Given the description of an element on the screen output the (x, y) to click on. 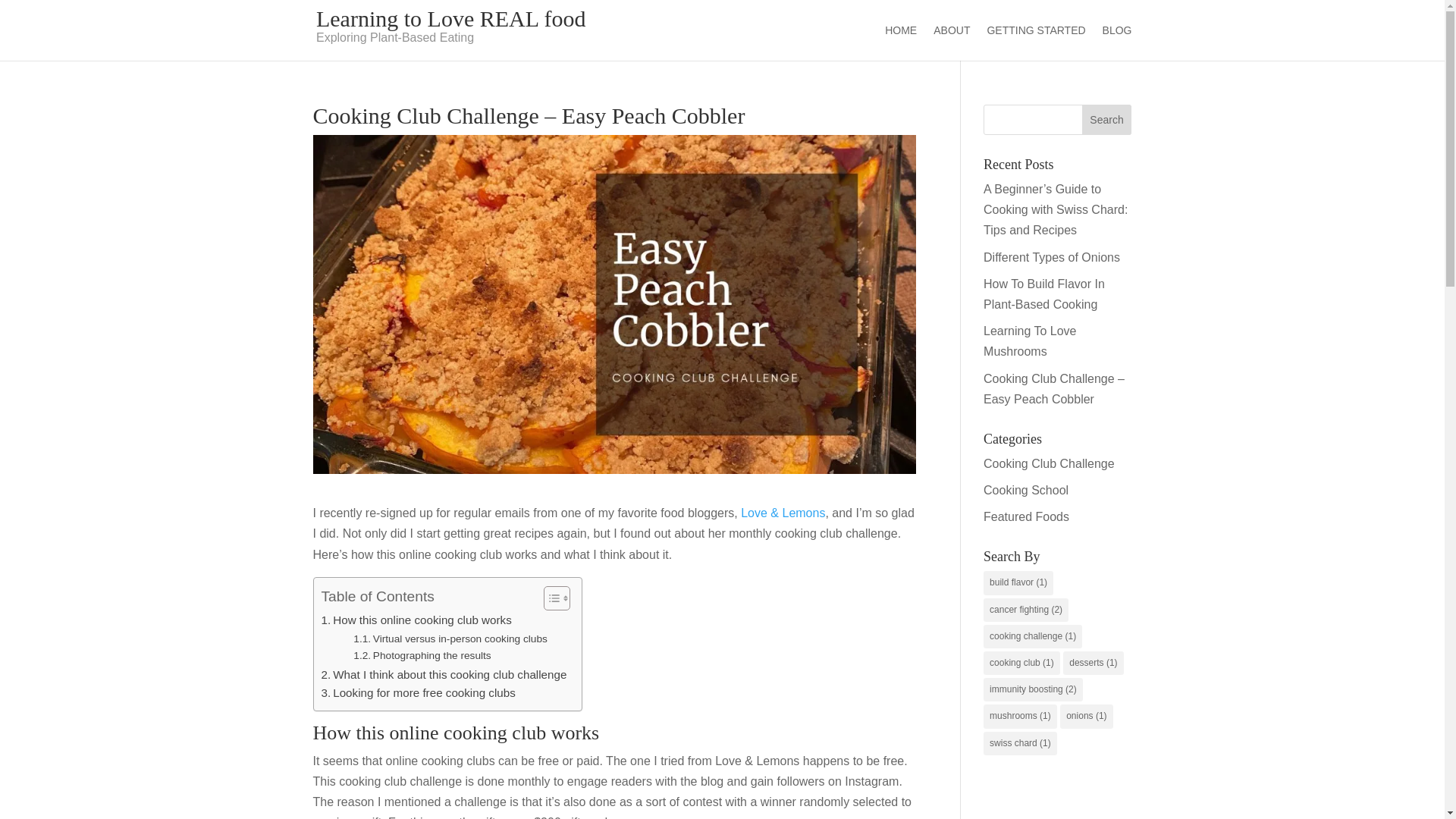
Virtual versus in-person cooking clubs (450, 638)
Looking for more free cooking clubs (418, 692)
How To Build Flavor In Plant-Based Cooking (1044, 294)
Looking for more free cooking clubs (418, 692)
Cooking School (1026, 490)
HOME (901, 42)
Virtual versus in-person cooking clubs (450, 638)
GETTING STARTED (1035, 42)
Featured Foods (1026, 516)
How this online cooking club works (416, 619)
Search (1106, 119)
ABOUT (951, 42)
Photographing the results (421, 655)
How this online cooking club works (416, 619)
Learning To Love Mushrooms (1029, 340)
